Given the description of an element on the screen output the (x, y) to click on. 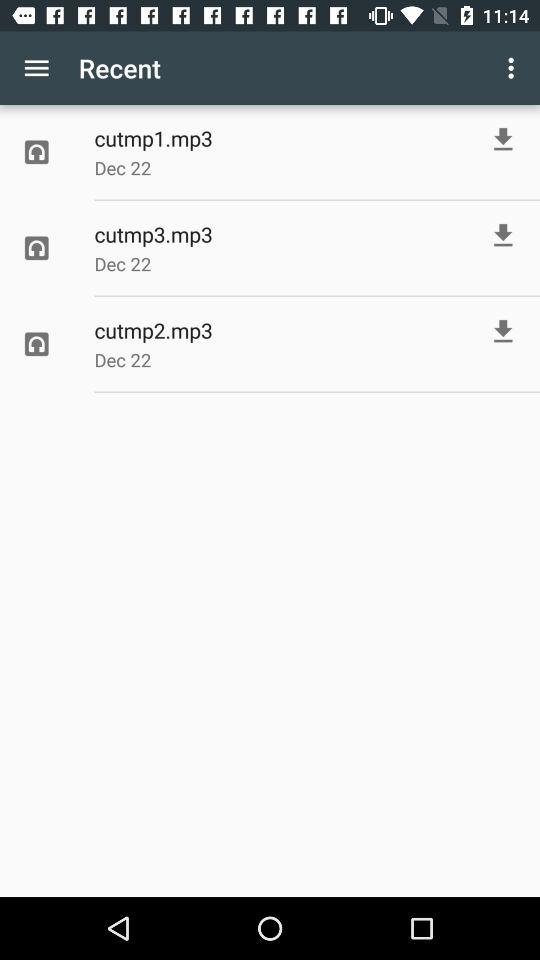
open the item to the right of recent item (513, 67)
